Given the description of an element on the screen output the (x, y) to click on. 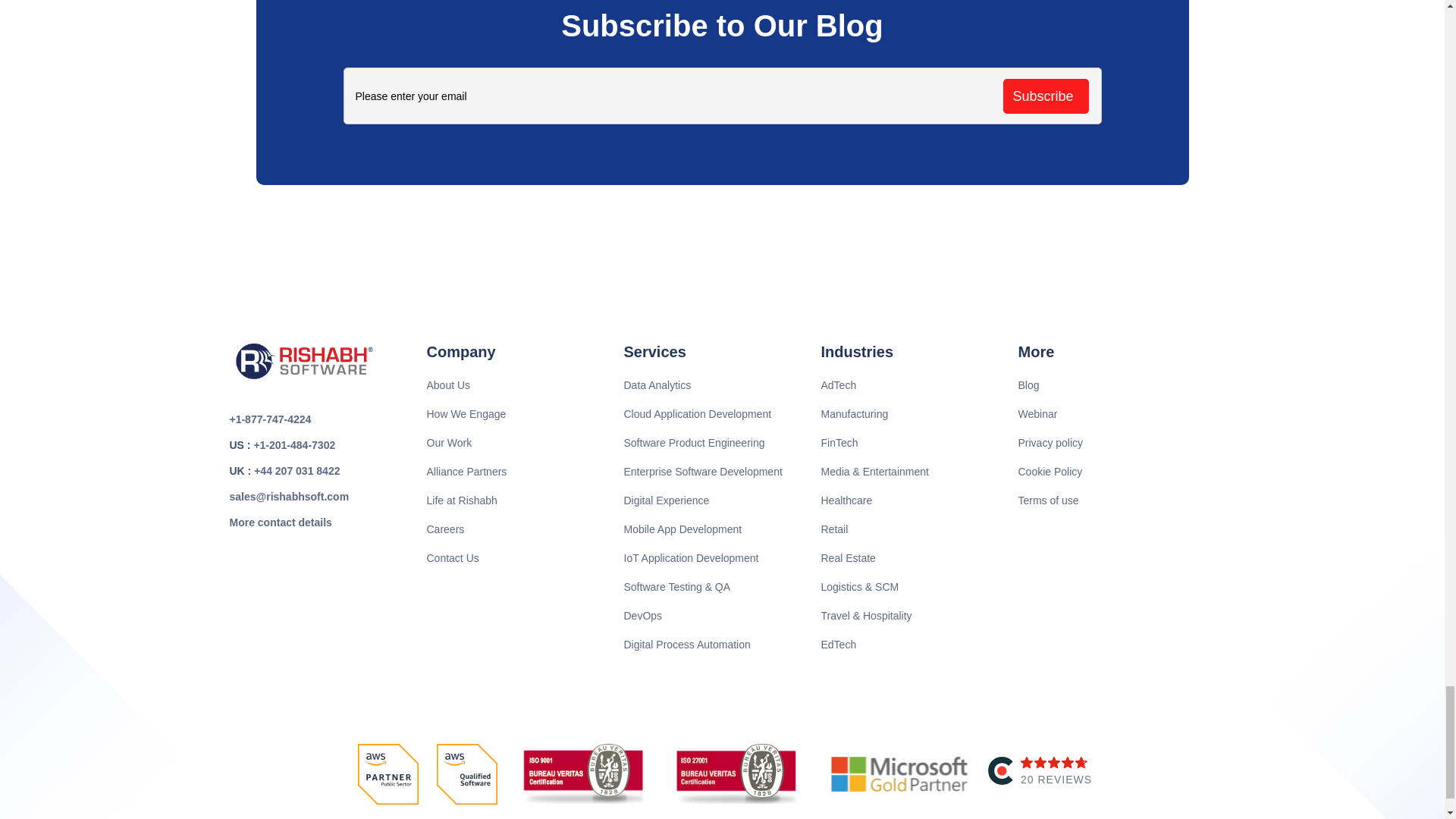
Rishabh Software Clutch Review Widget 1 (1041, 775)
Subscribe (1045, 95)
